Given the description of an element on the screen output the (x, y) to click on. 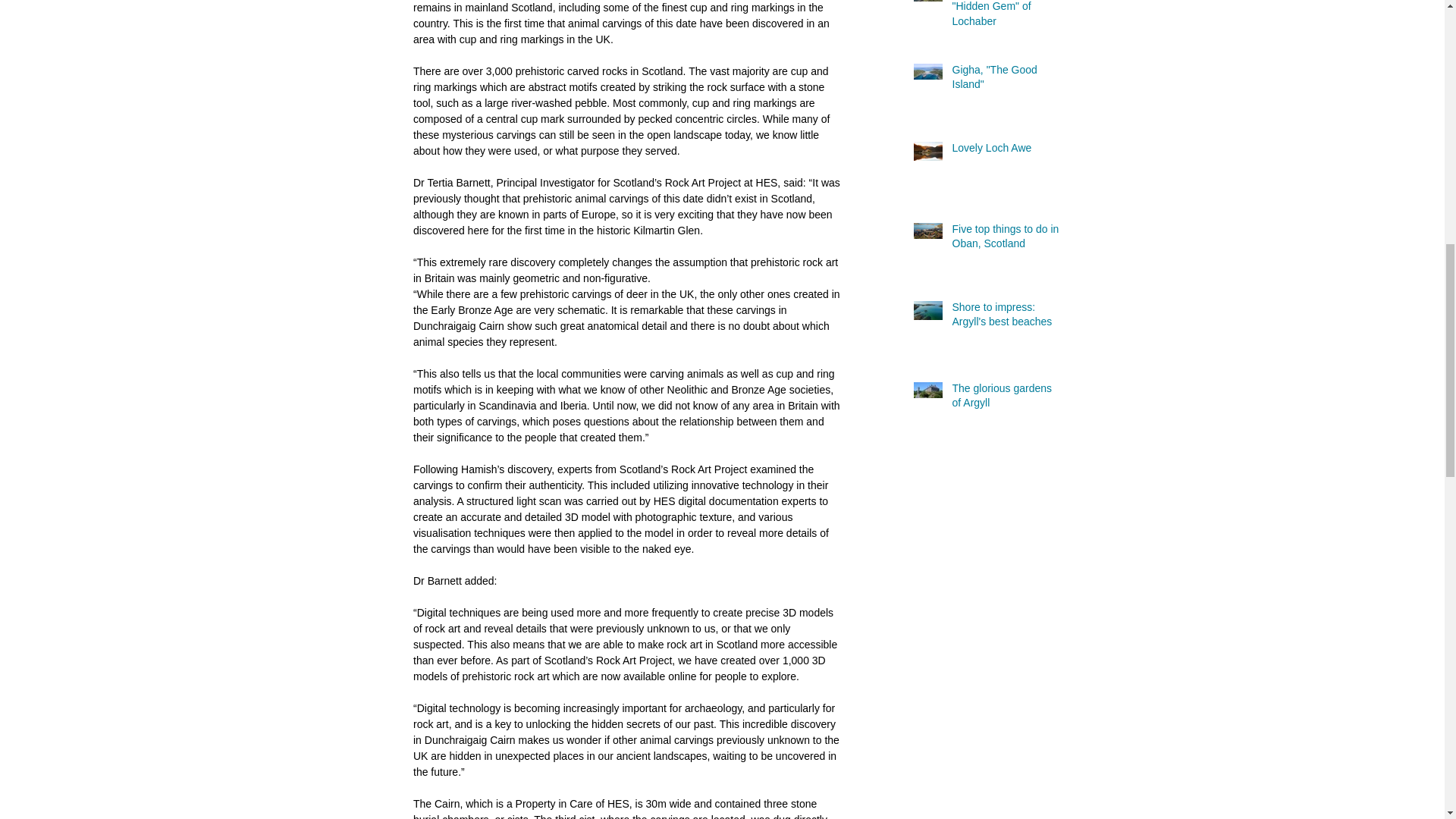
Ardnamurchan, the "Hidden Gem" of Lochaber (1006, 18)
Gigha, "The Good Island" (1006, 80)
Lovely Loch Awe (1006, 151)
